Given the description of an element on the screen output the (x, y) to click on. 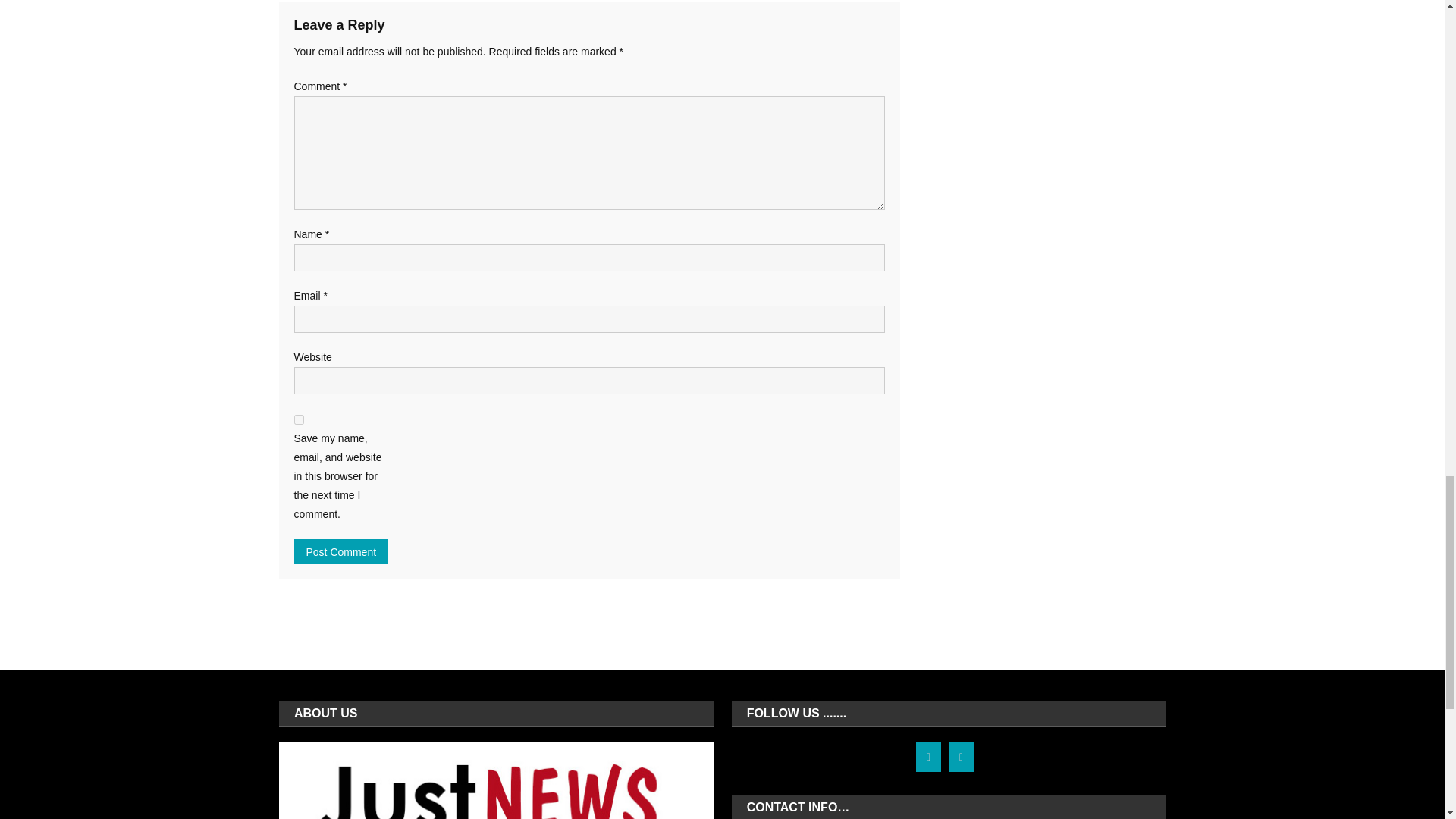
Post Comment (341, 551)
yes (299, 419)
